Given the description of an element on the screen output the (x, y) to click on. 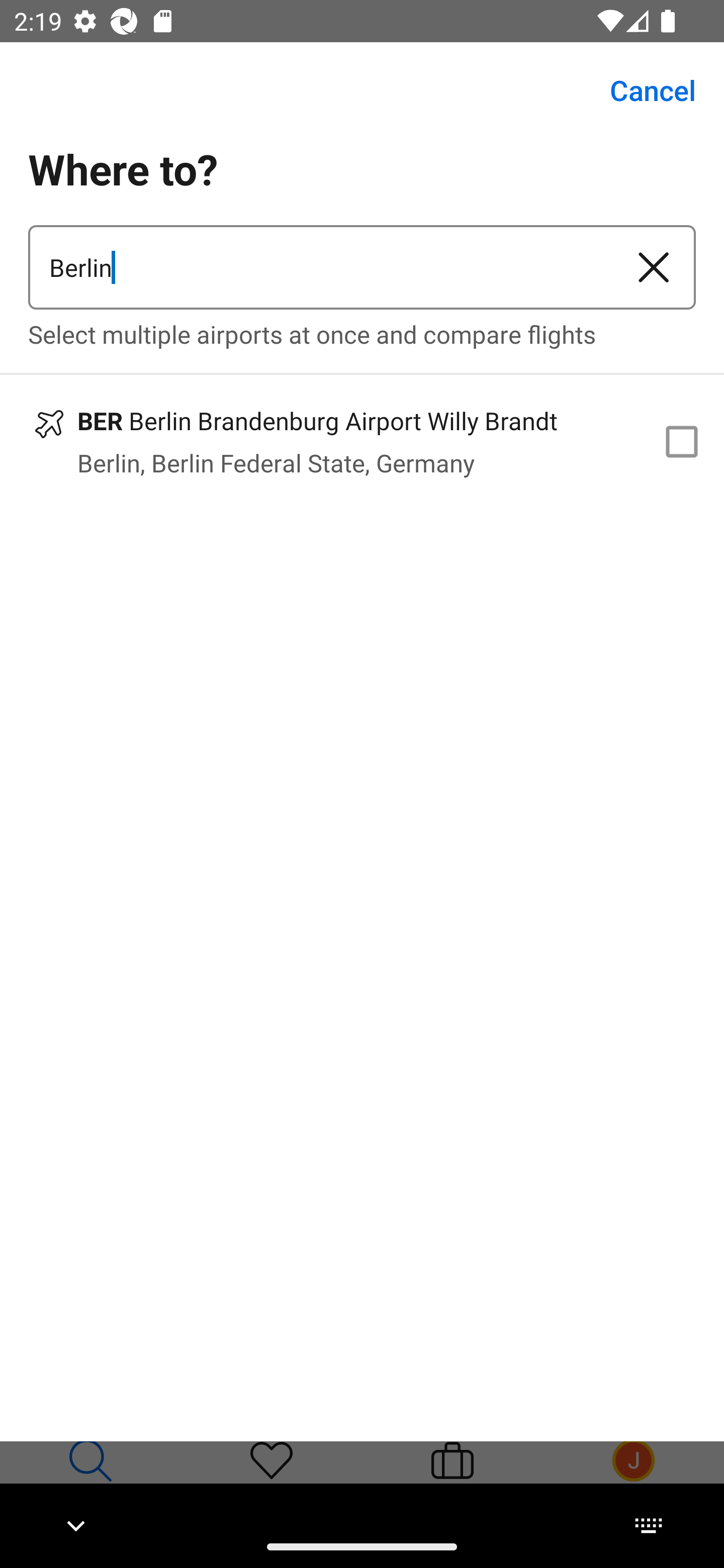
Cancel (641, 90)
Berlin (319, 266)
Clear airport or city (653, 266)
